Given the description of an element on the screen output the (x, y) to click on. 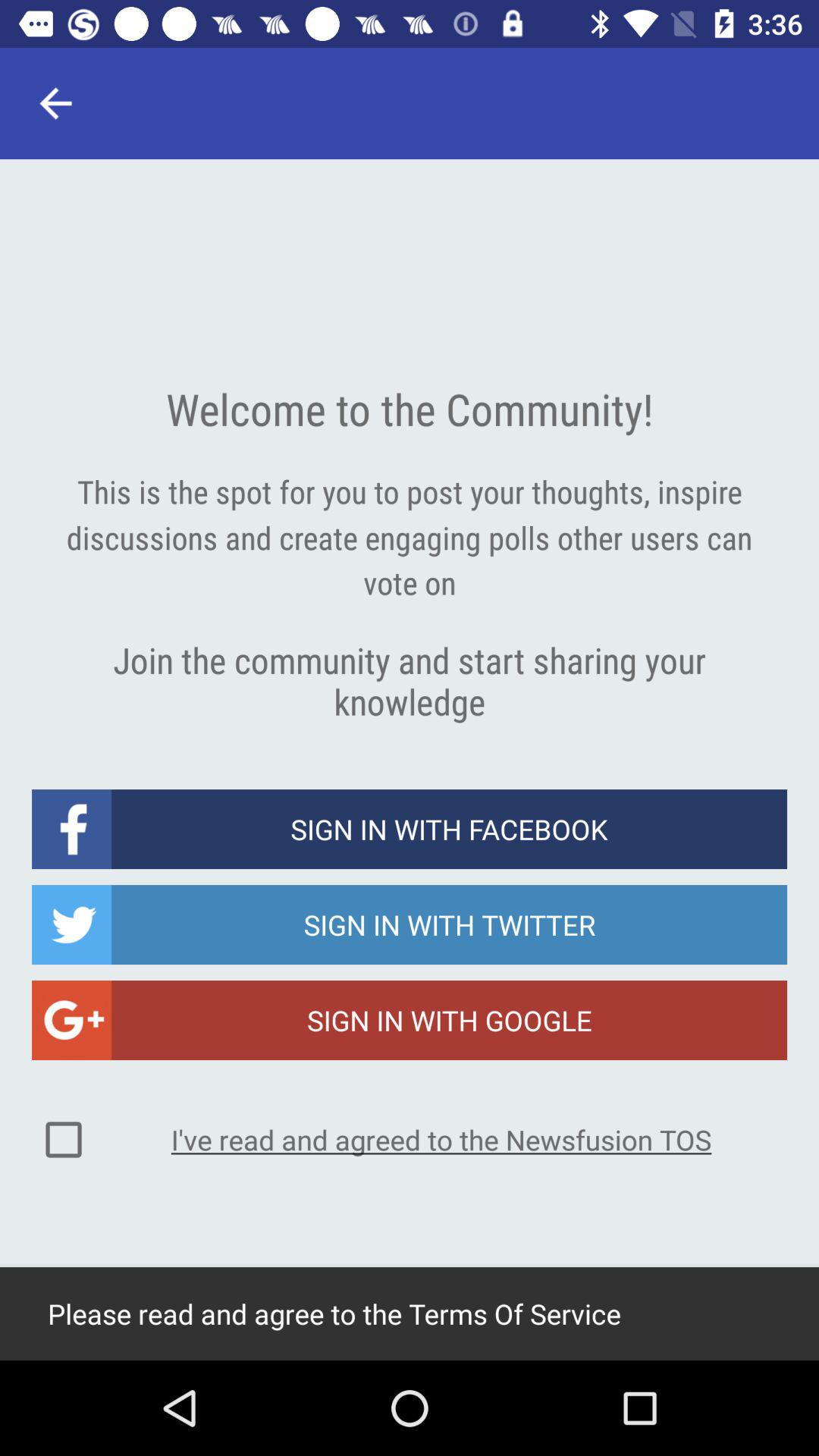
jump to the i ve read icon (441, 1139)
